Given the description of an element on the screen output the (x, y) to click on. 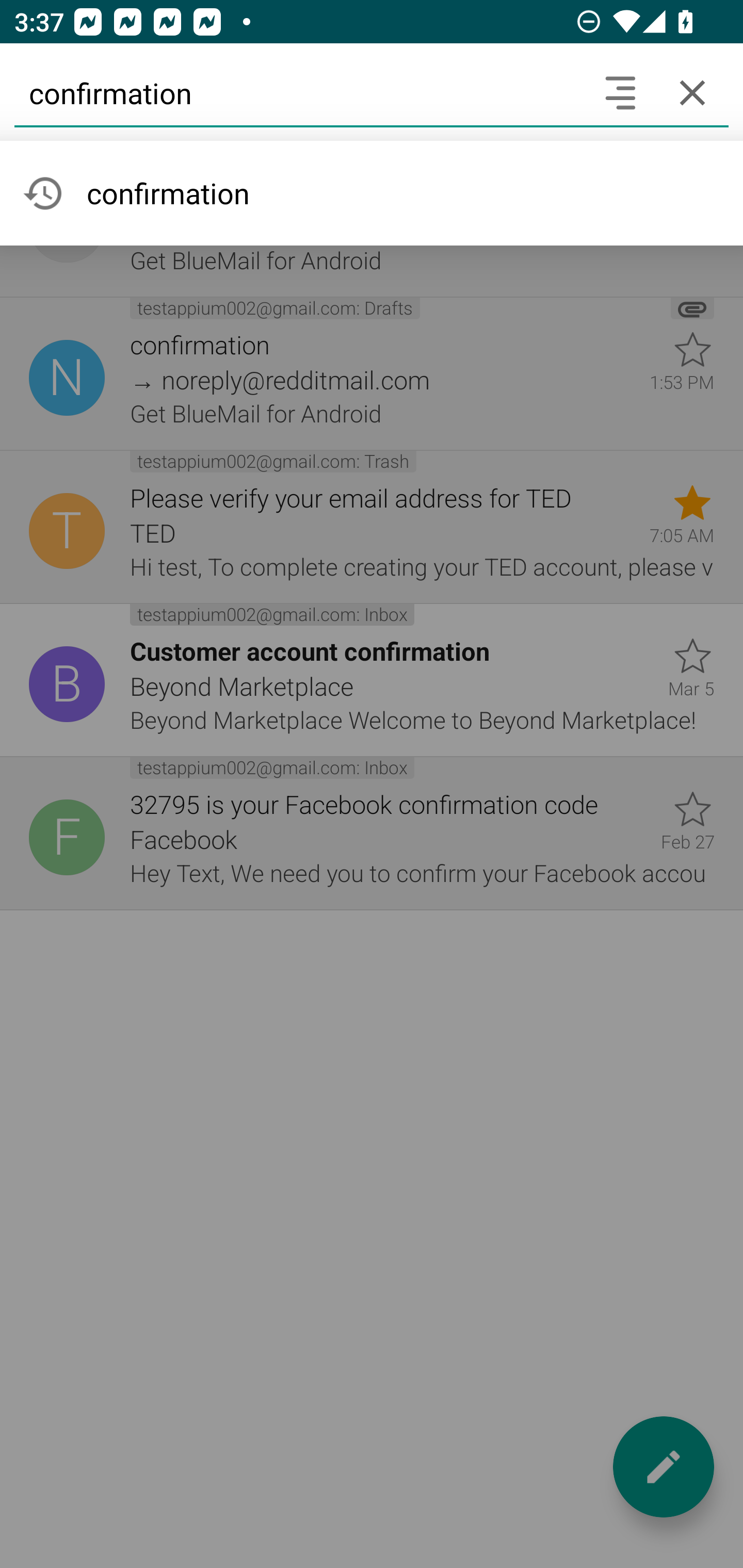
confirmation (298, 92)
Search headers and text (619, 92)
Cancel (692, 92)
